Given the description of an element on the screen output the (x, y) to click on. 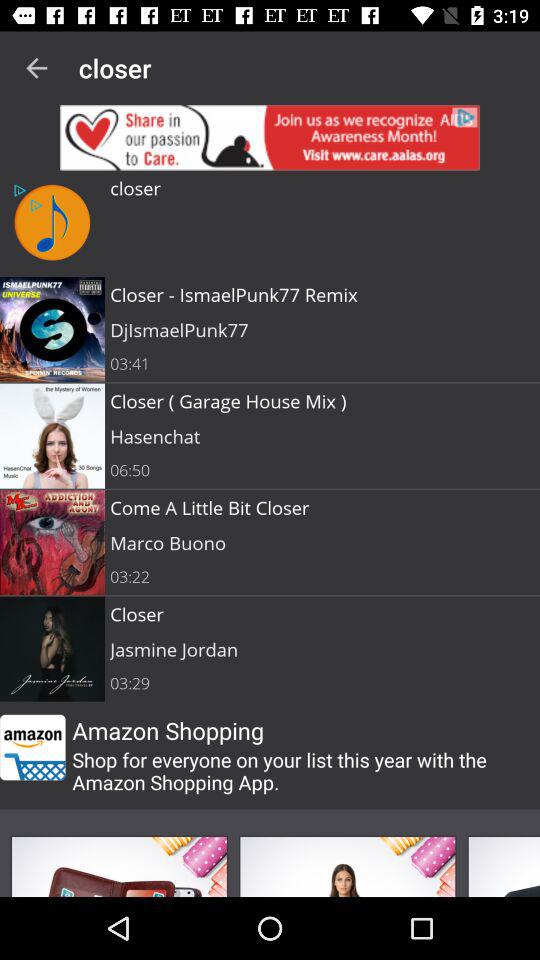
advertisement for sharing passionate care (270, 137)
